Given the description of an element on the screen output the (x, y) to click on. 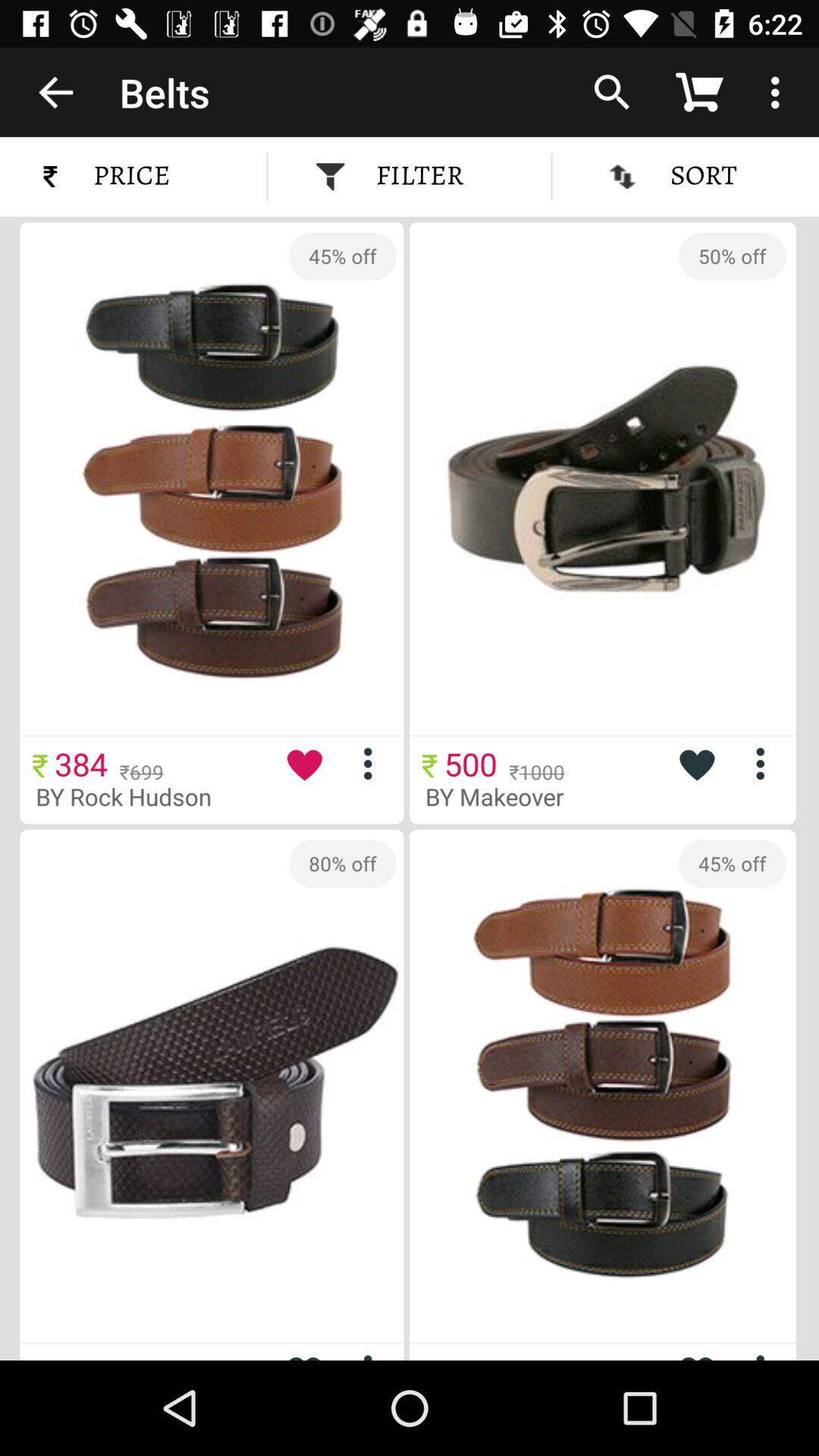
add to favorites (696, 1351)
